Given the description of an element on the screen output the (x, y) to click on. 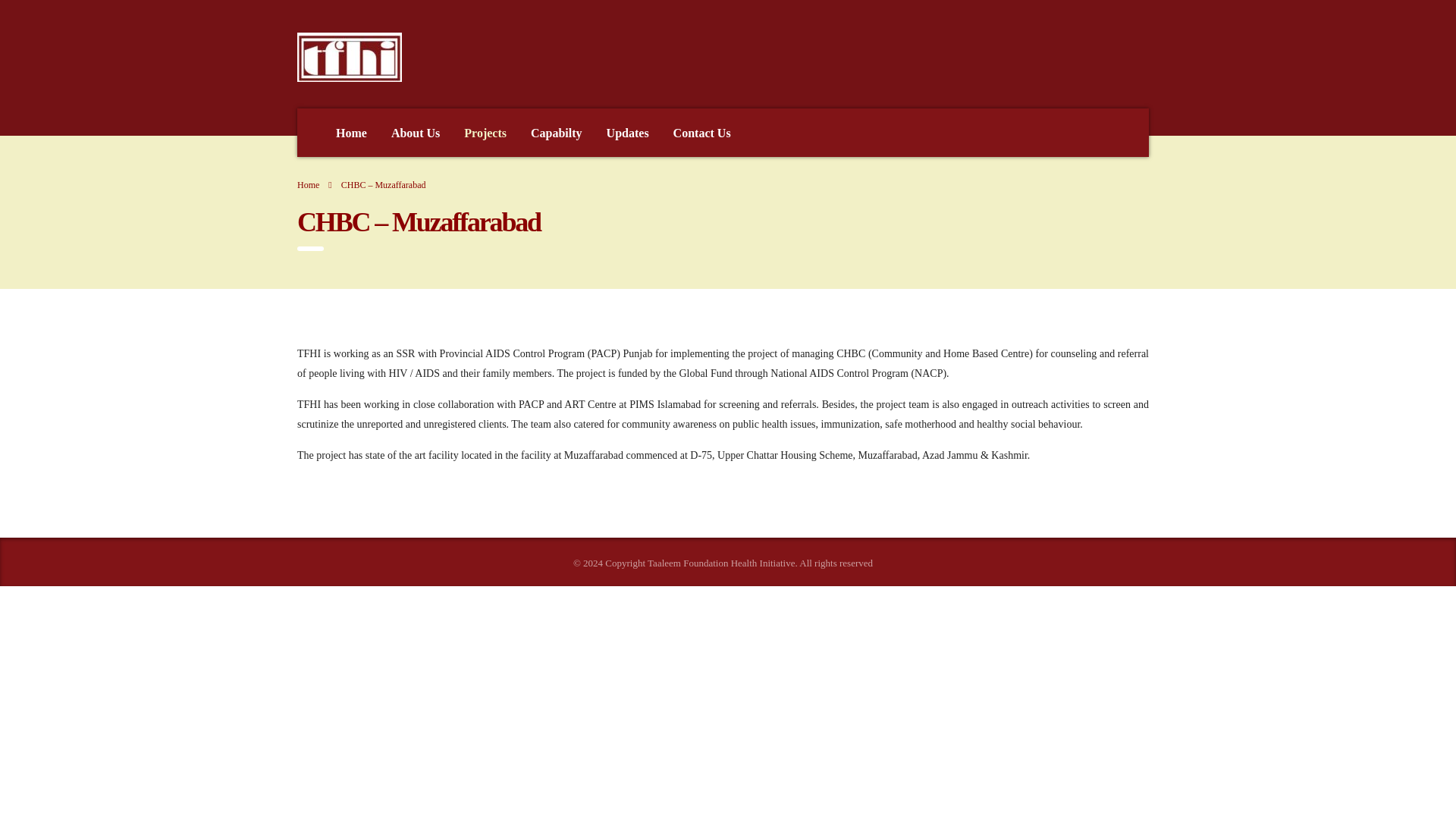
Go to Taaleem Foundation Health Initiative. (307, 184)
Contact Us (701, 132)
Projects (484, 132)
Capabilty (556, 132)
About Us (414, 132)
Home (350, 132)
Updates (627, 132)
